Given the description of an element on the screen output the (x, y) to click on. 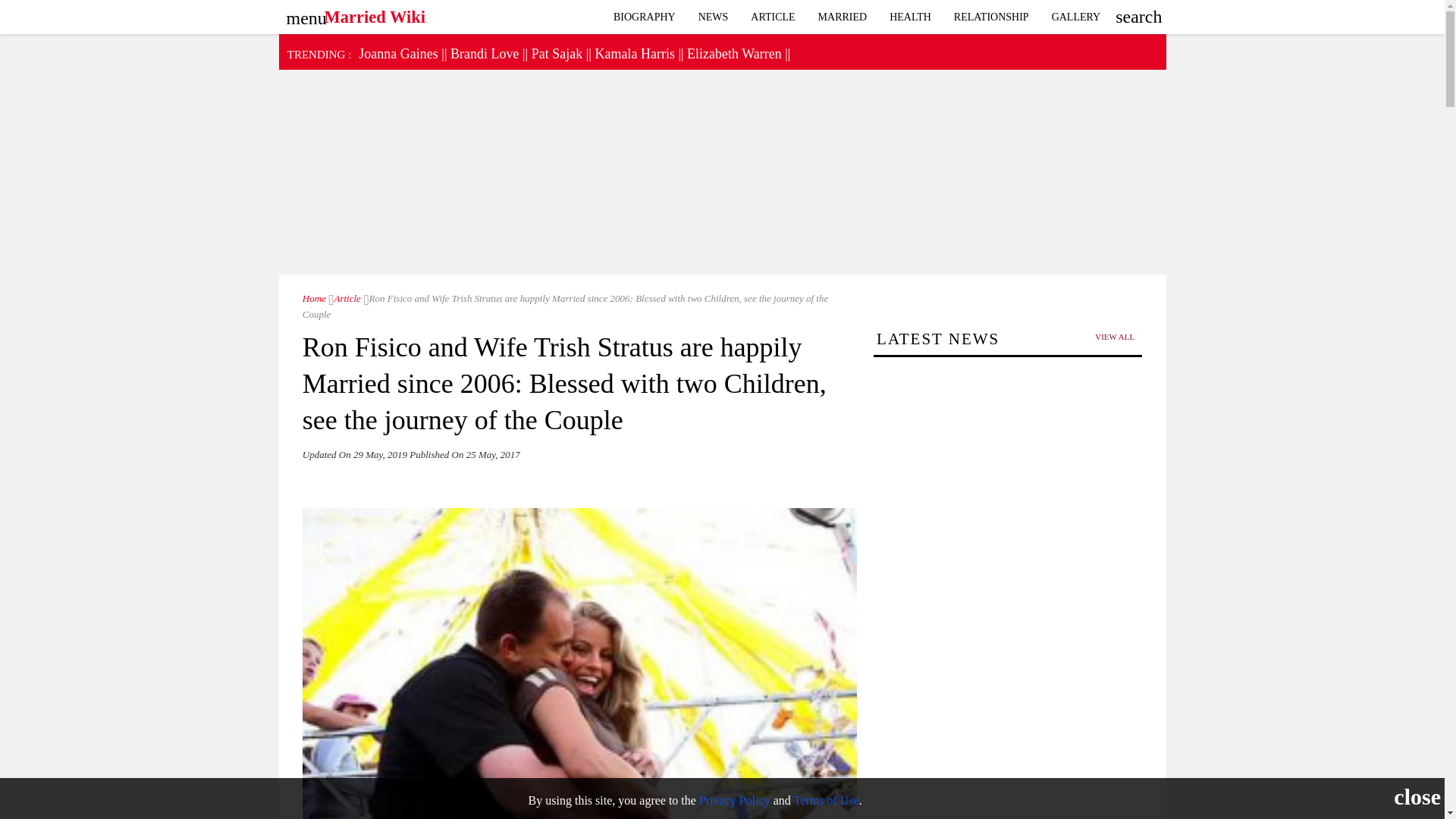
Terms of Use (826, 799)
Joanna Gaines (398, 53)
menu (302, 13)
GALLERY (1076, 17)
Article (345, 297)
Married Wiki (314, 297)
Biography (644, 17)
married (842, 17)
Brandi Love (483, 53)
Kamala Harris (634, 53)
